Given the description of an element on the screen output the (x, y) to click on. 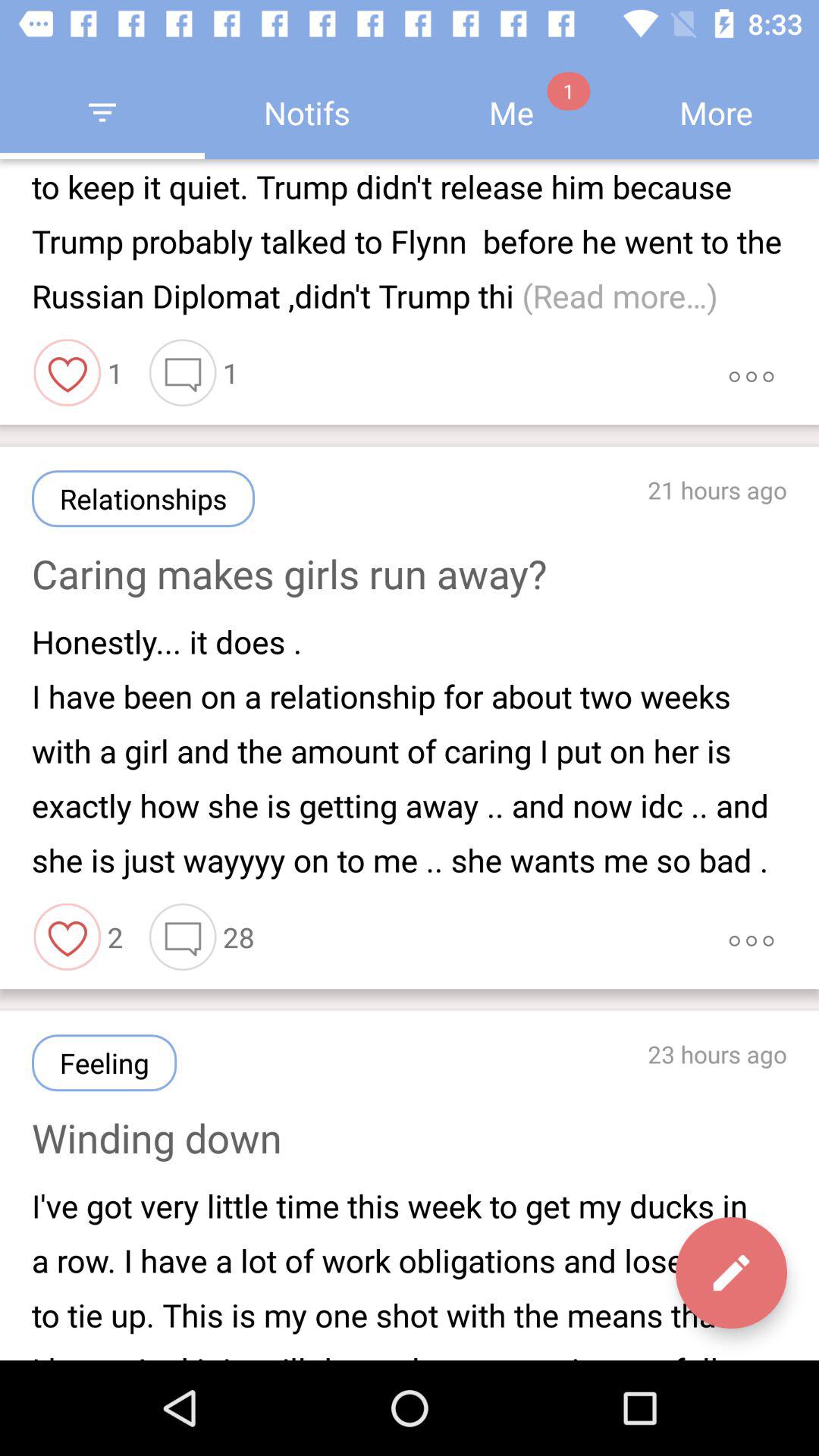
open item to the left of 21 hours ago item (142, 498)
